Given the description of an element on the screen output the (x, y) to click on. 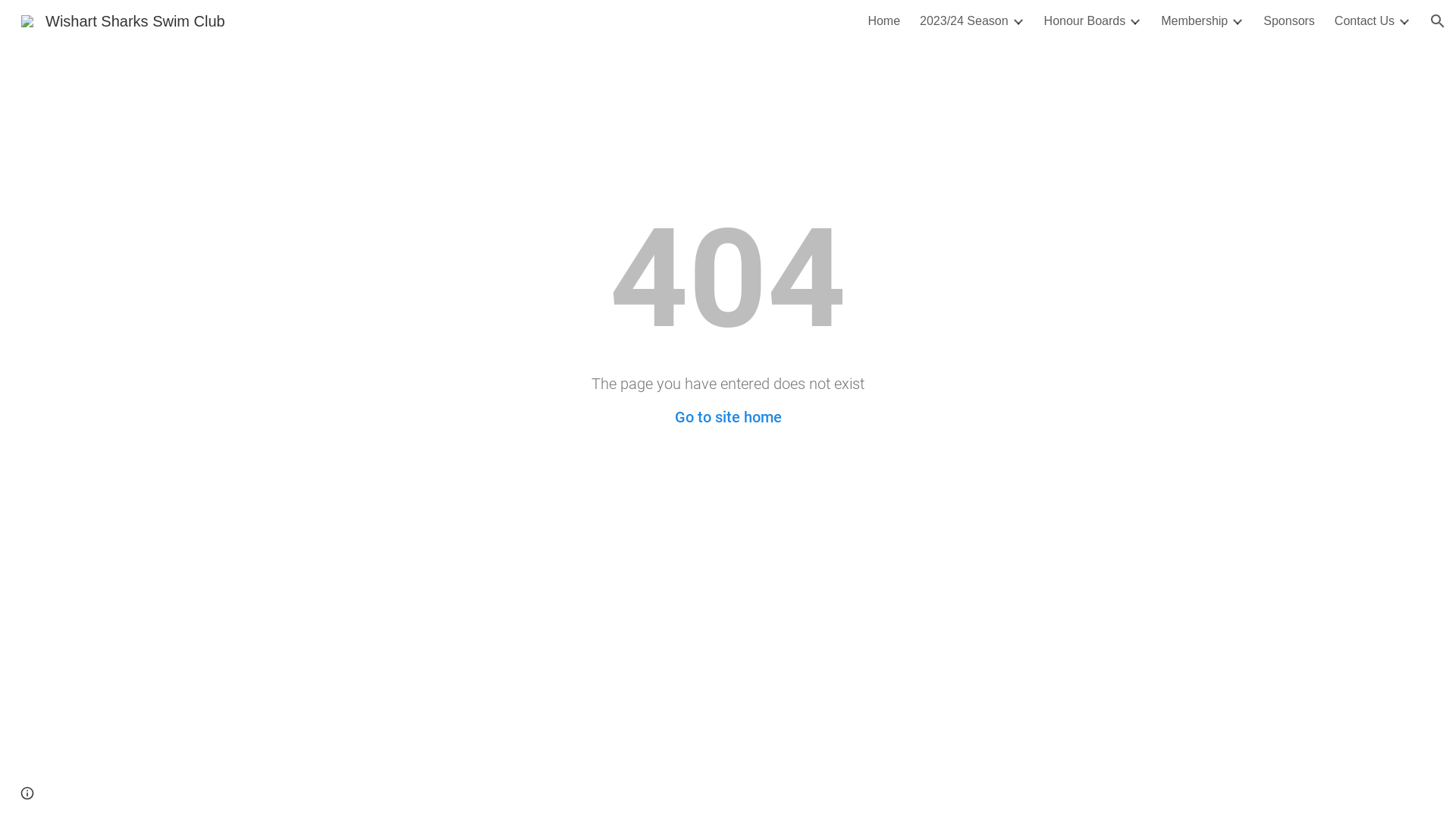
Expand/Collapse Element type: hover (1017, 21)
Go to site home Element type: text (727, 416)
Expand/Collapse Element type: hover (1134, 21)
Expand/Collapse Element type: hover (1403, 21)
Home Element type: text (883, 21)
Expand/Collapse Element type: hover (1236, 21)
Contact Us Element type: text (1364, 21)
Membership Element type: text (1194, 21)
Honour Boards Element type: text (1085, 21)
Sponsors Element type: text (1288, 21)
2023/24 Season Element type: text (963, 21)
Wishart Sharks Swim Club Element type: text (123, 19)
